Given the description of an element on the screen output the (x, y) to click on. 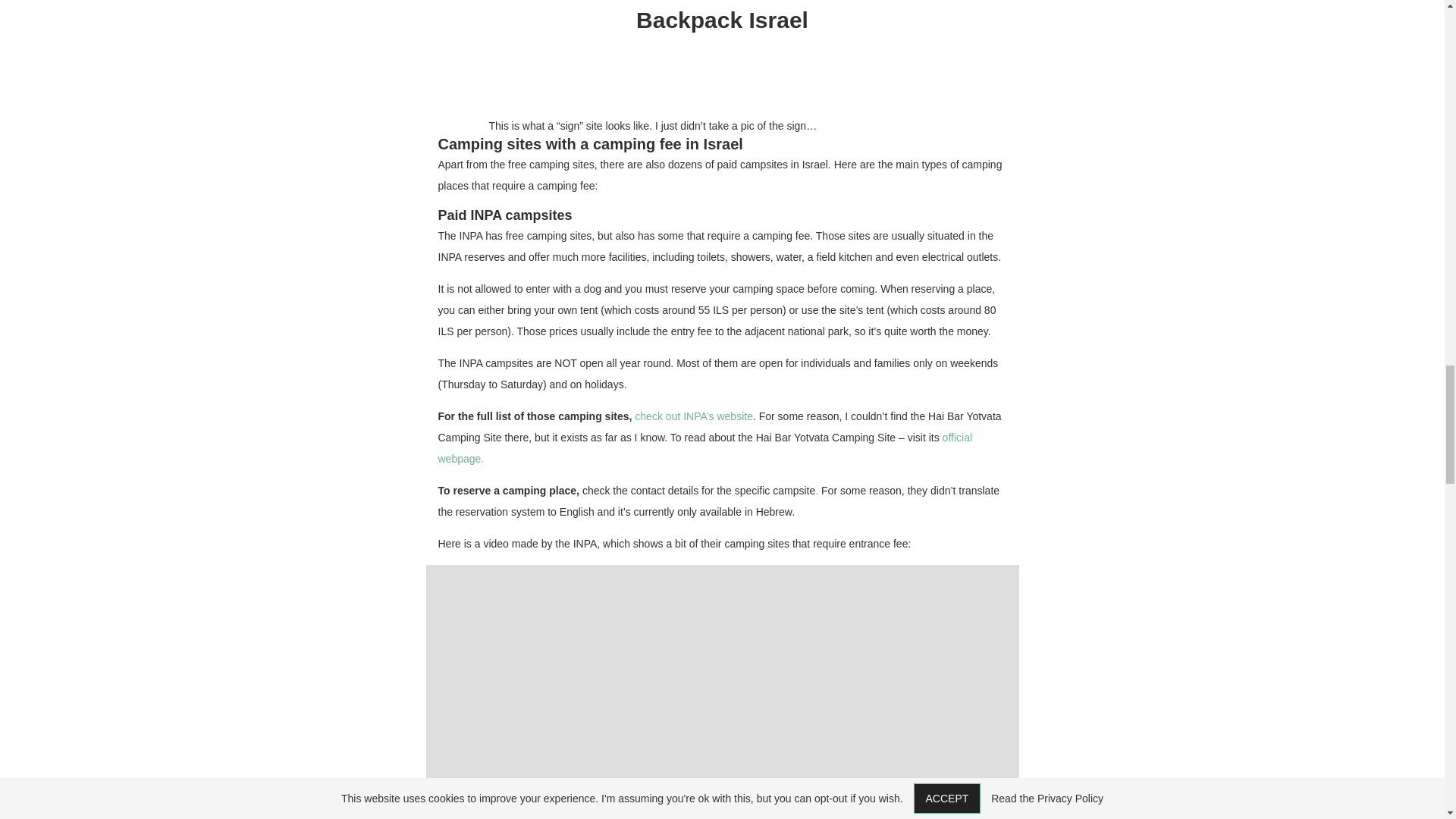
official webpage. (705, 448)
